Given the description of an element on the screen output the (x, y) to click on. 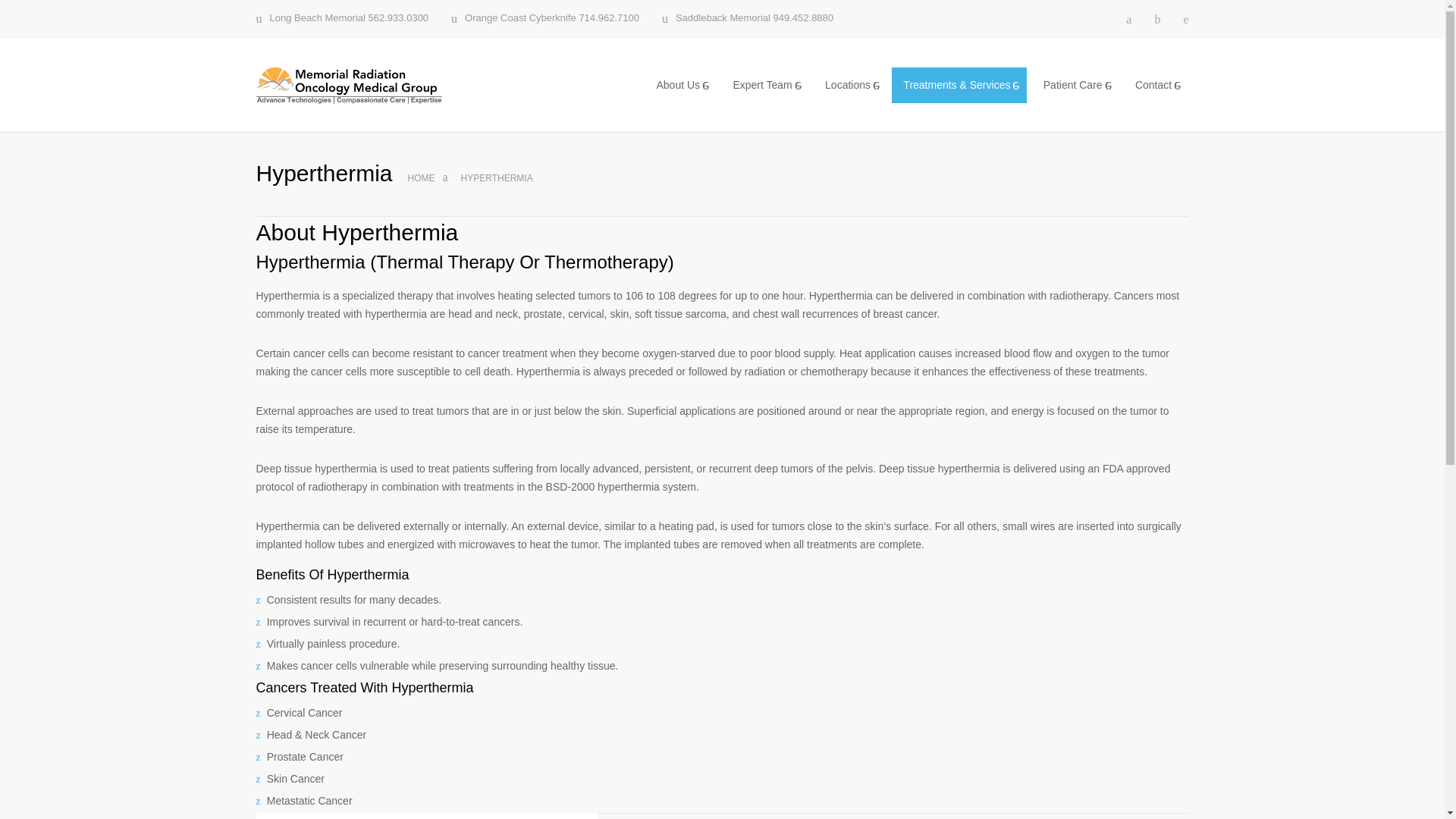
Patient Care (1074, 85)
Home (421, 177)
Contact (1155, 85)
Expert Team (764, 85)
Locations (849, 85)
About Us (679, 85)
